Given the description of an element on the screen output the (x, y) to click on. 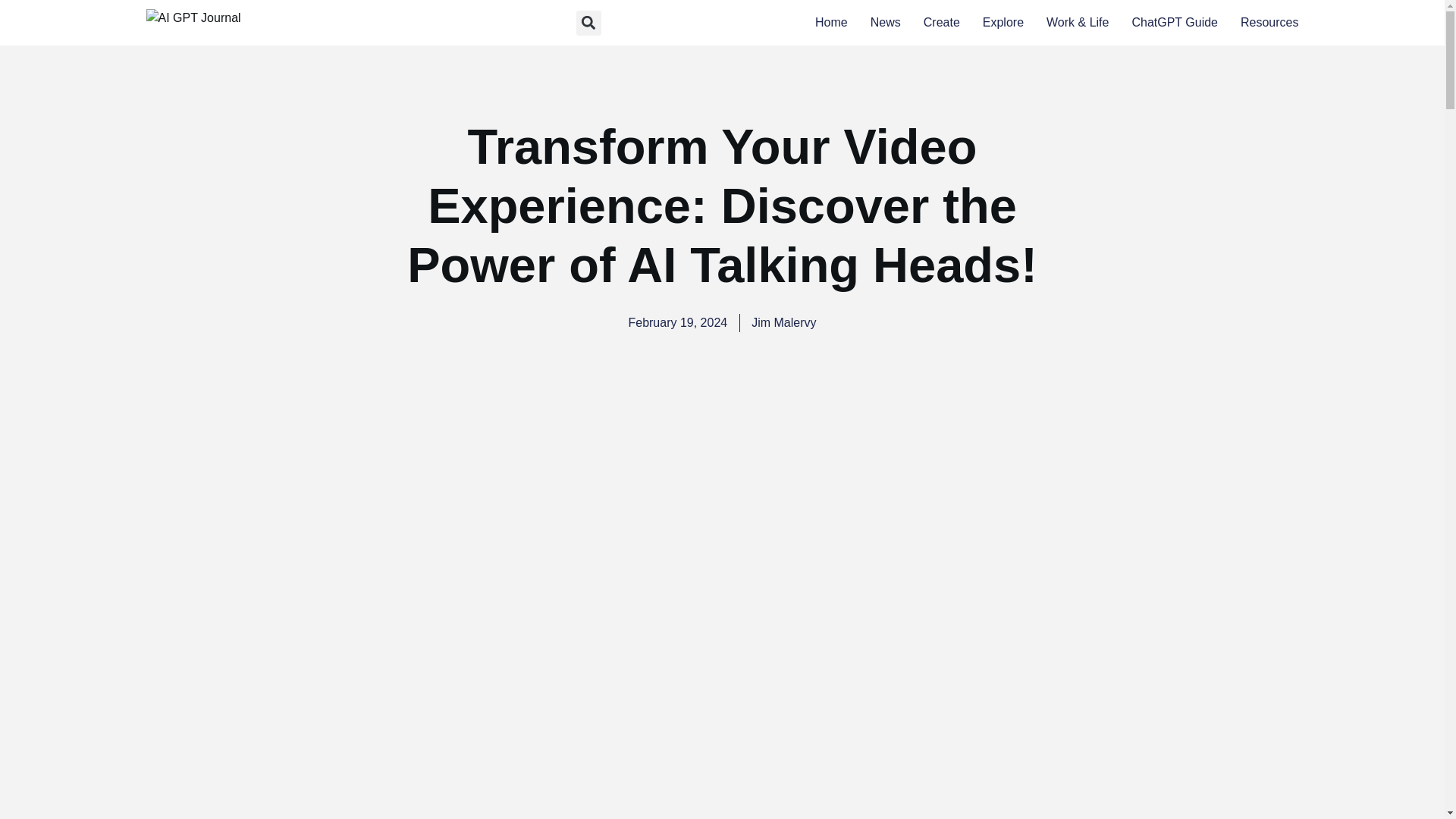
Home (831, 22)
ChatGPT Guide (1174, 22)
Jim Malervy (783, 322)
Create (941, 22)
Resources (1269, 22)
Explore (1002, 22)
News (885, 22)
February 19, 2024 (676, 322)
